Given the description of an element on the screen output the (x, y) to click on. 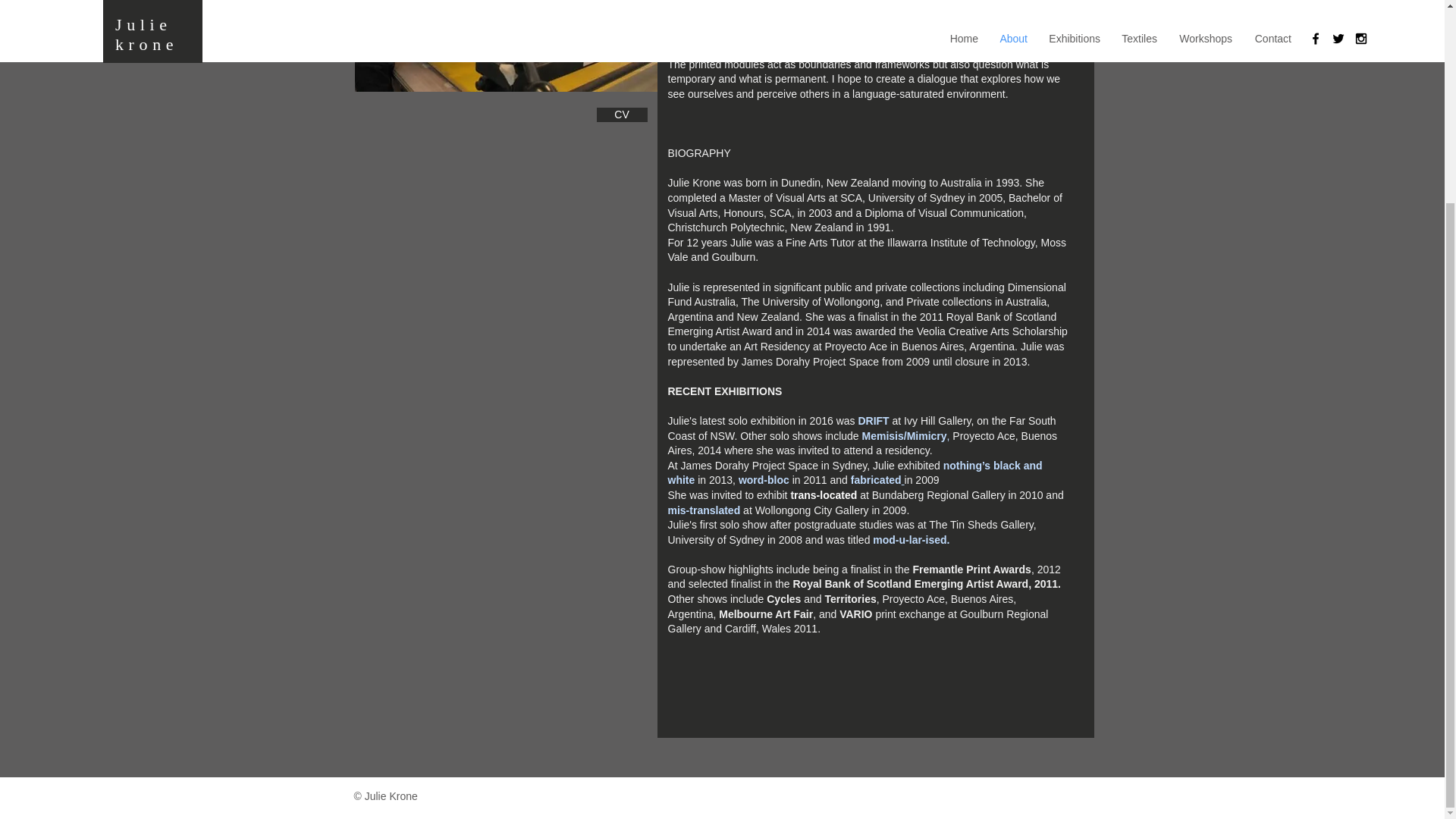
mis-translated (702, 510)
mod-u-lar-ised. (910, 539)
DRIFT (872, 420)
CV (620, 114)
word-bloc (763, 480)
fabricated (877, 480)
